Given the description of an element on the screen output the (x, y) to click on. 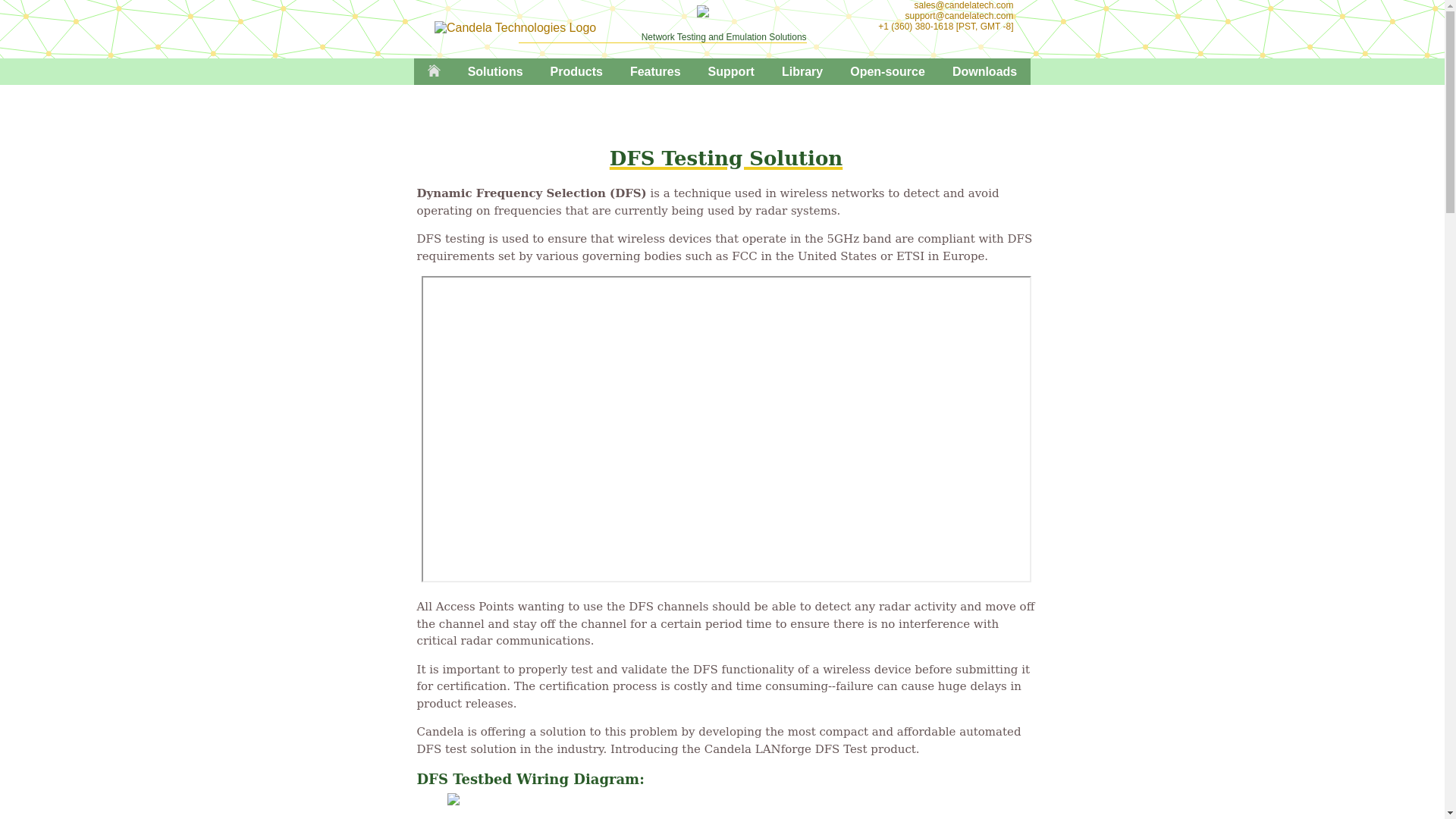
Support (731, 71)
Features (654, 71)
Solutions (495, 71)
Products (576, 71)
